Given the description of an element on the screen output the (x, y) to click on. 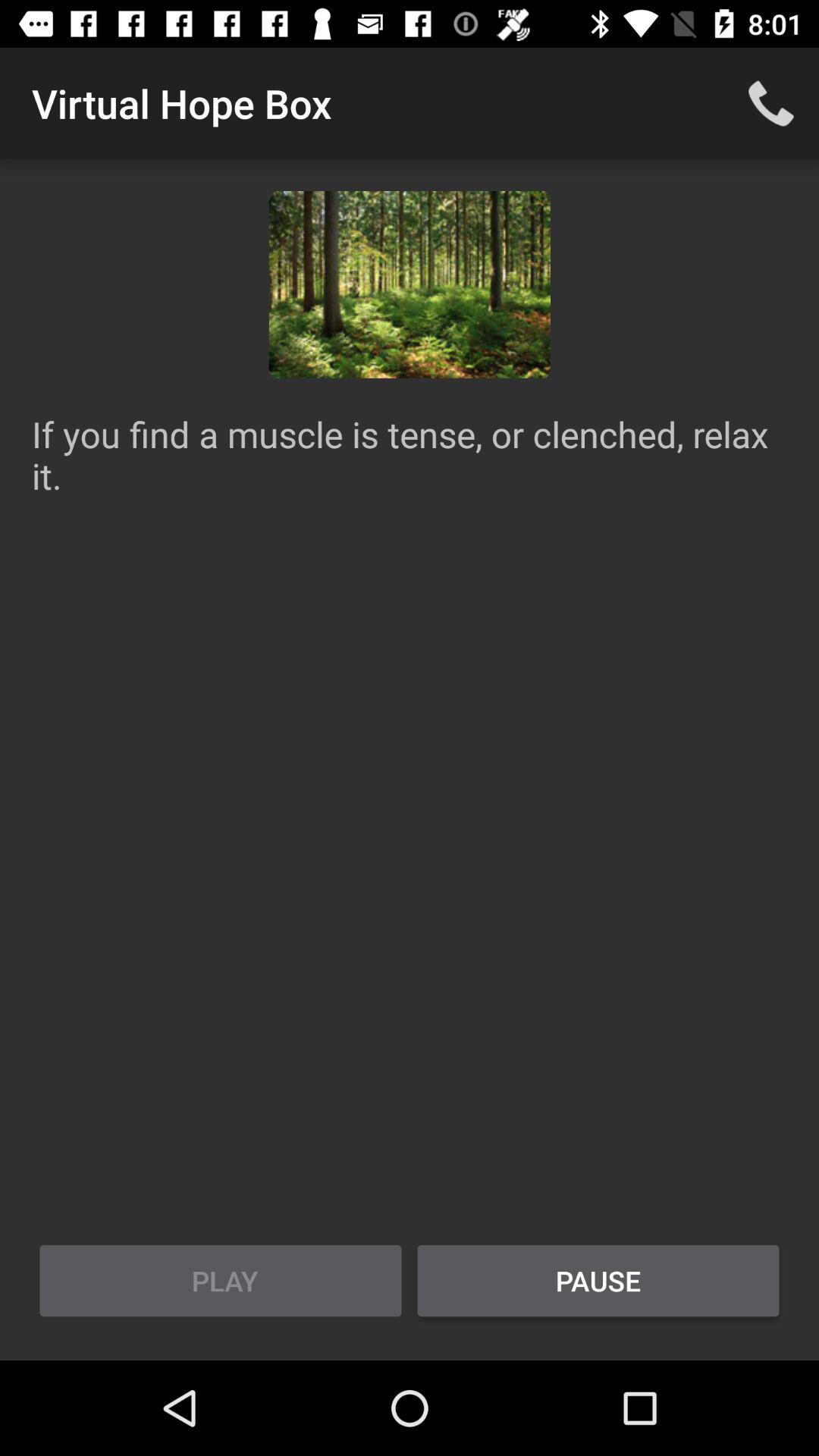
open pause item (598, 1280)
